Given the description of an element on the screen output the (x, y) to click on. 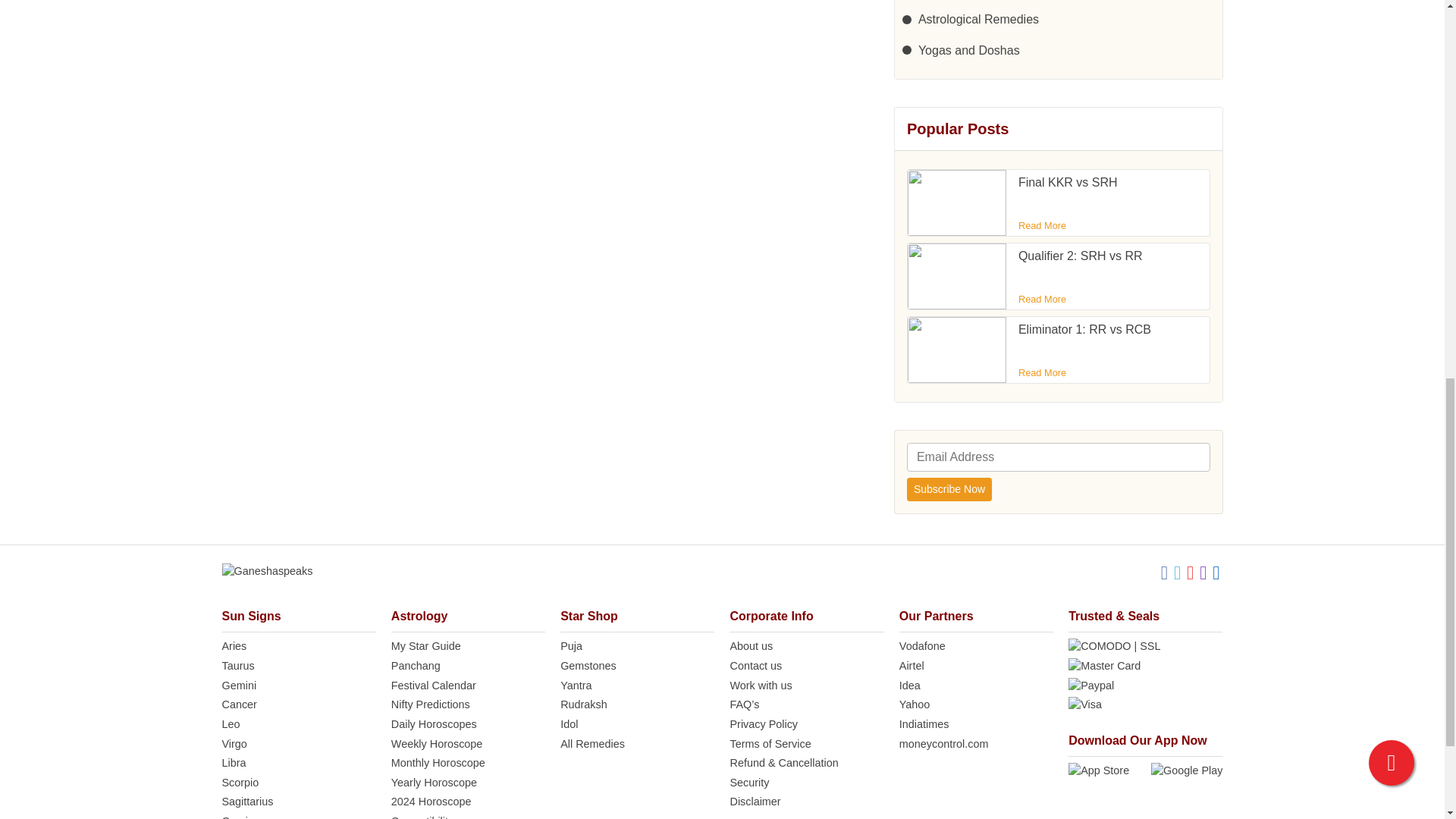
Aries (298, 646)
Scorpio (298, 782)
Taurus (298, 666)
Sagittarius (298, 801)
Virgo (298, 744)
Capricorn (298, 816)
Leo (298, 724)
Cancer (298, 704)
Ganeshaspeaks (267, 571)
My Star Guide (467, 646)
